Given the description of an element on the screen output the (x, y) to click on. 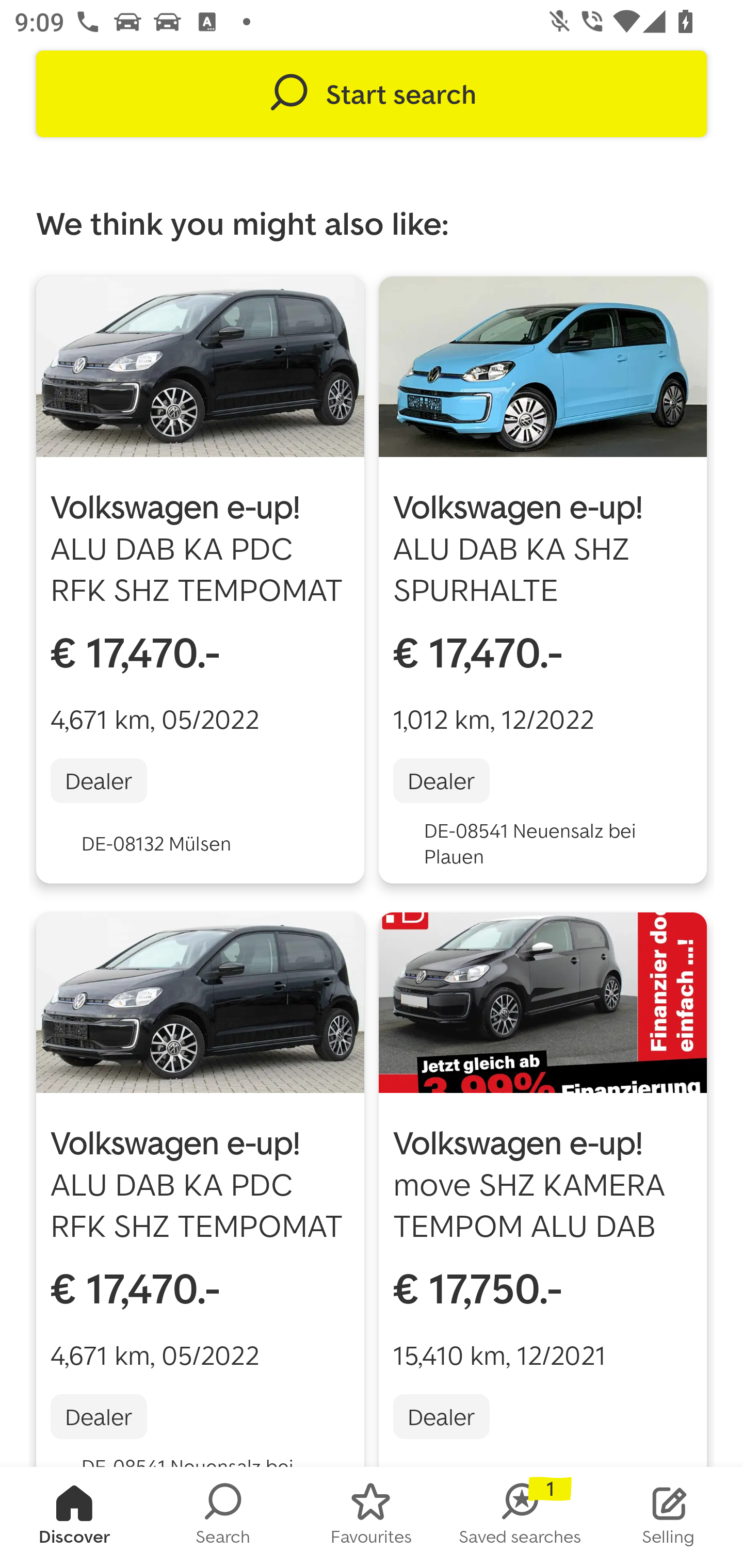
Start search (371, 93)
HOMESCREEN Discover (74, 1517)
SEARCH Search (222, 1517)
FAVORITES Favourites (371, 1517)
SAVED_SEARCHES Saved searches 1 (519, 1517)
STOCK_LIST Selling (668, 1517)
